Given the description of an element on the screen output the (x, y) to click on. 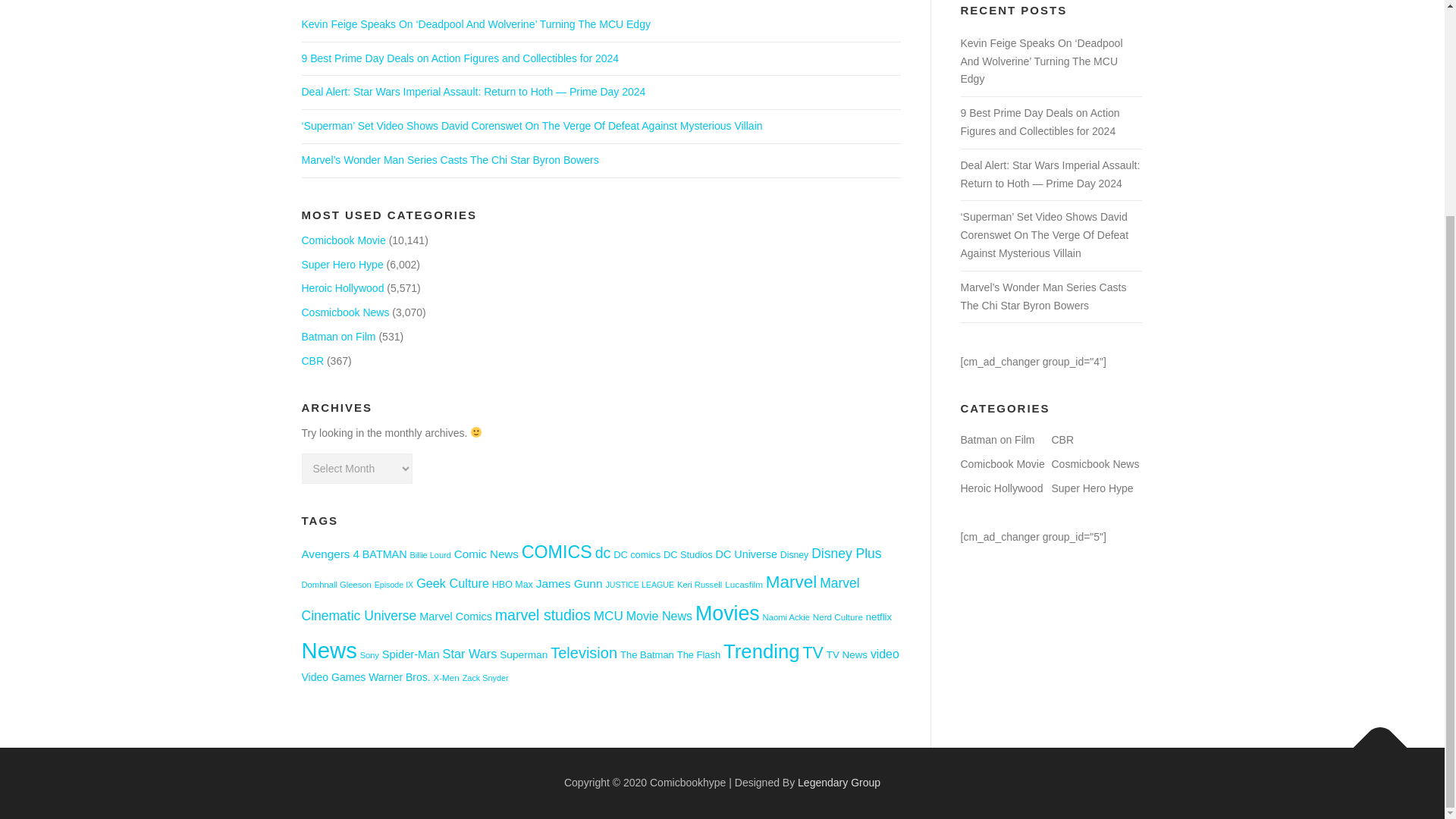
Avengers 4 (330, 553)
HBO Max (512, 584)
COMICS (556, 551)
Episode IX (393, 583)
Super Hero Hype (342, 264)
CBR (312, 360)
Keri Russell (699, 583)
Geek Culture (452, 582)
Comic News (486, 553)
Marvel (790, 581)
Disney (794, 554)
JUSTICE LEAGUE (640, 583)
Lucasfilm (743, 583)
Billie Lourd (429, 554)
Heroic Hollywood (342, 287)
